Given the description of an element on the screen output the (x, y) to click on. 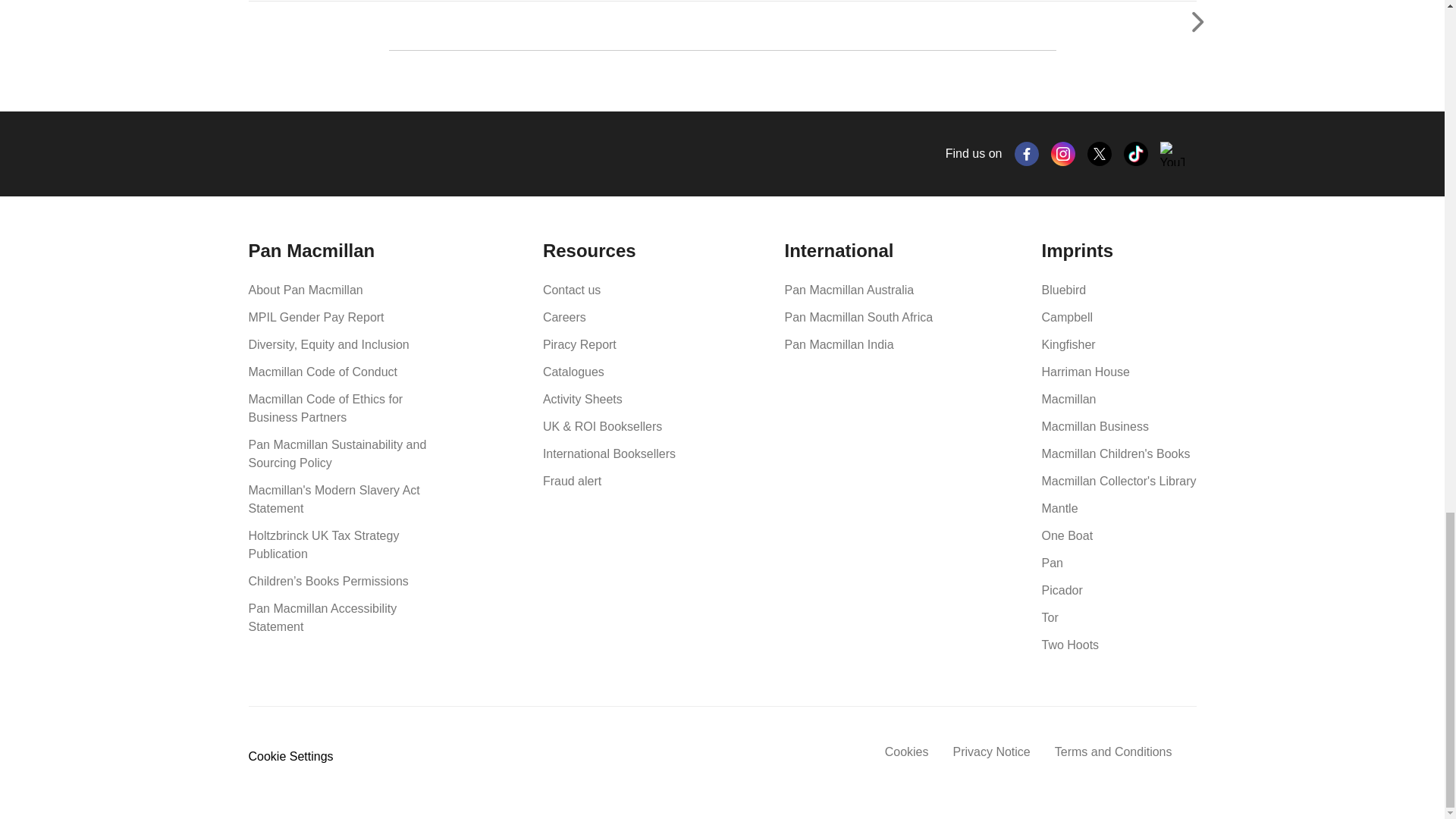
TikTok (1136, 153)
Instagram (1063, 153)
Facebook (1026, 153)
YouTube (1172, 153)
